Given the description of an element on the screen output the (x, y) to click on. 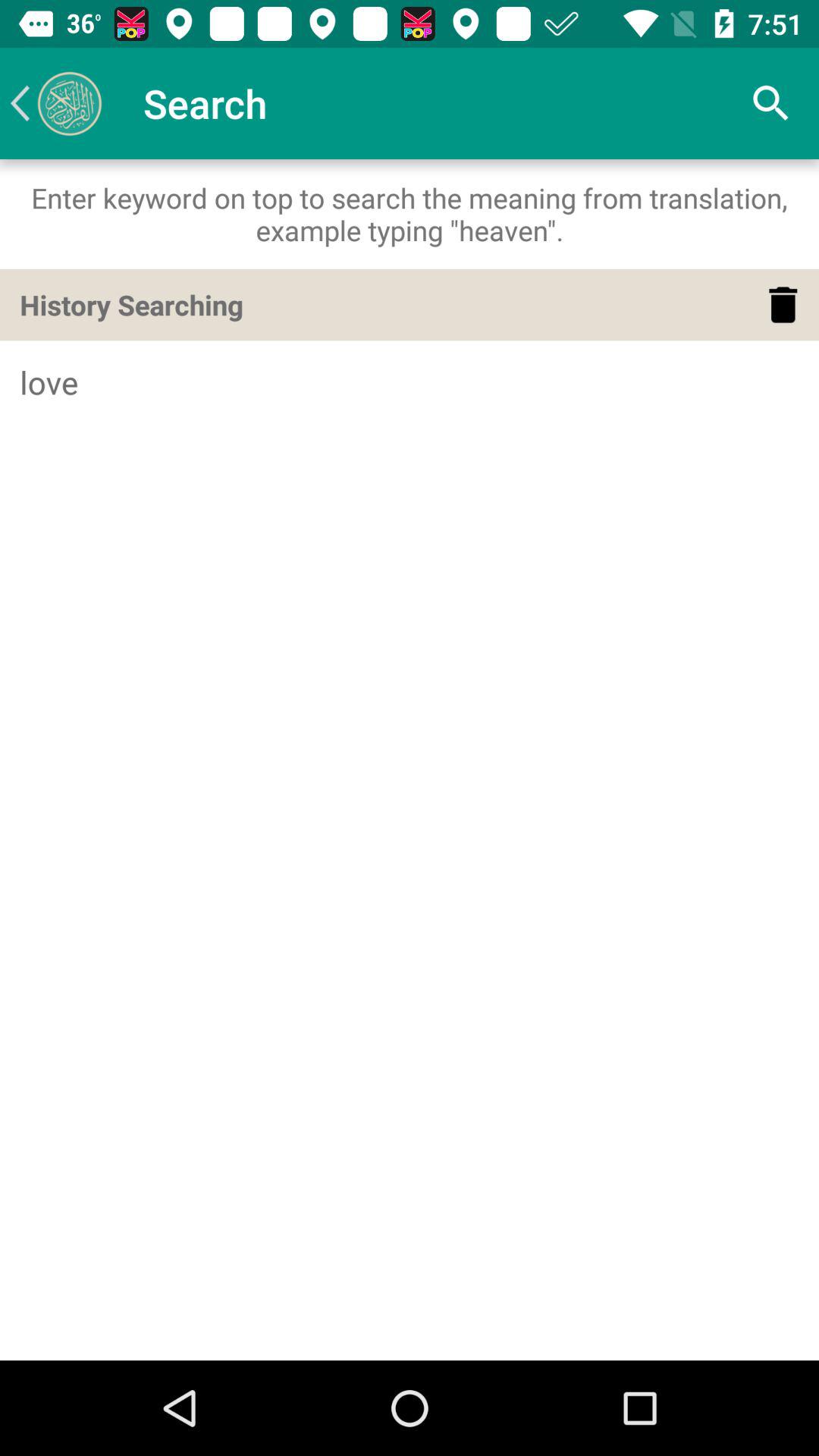
go to delete (783, 304)
